Given the description of an element on the screen output the (x, y) to click on. 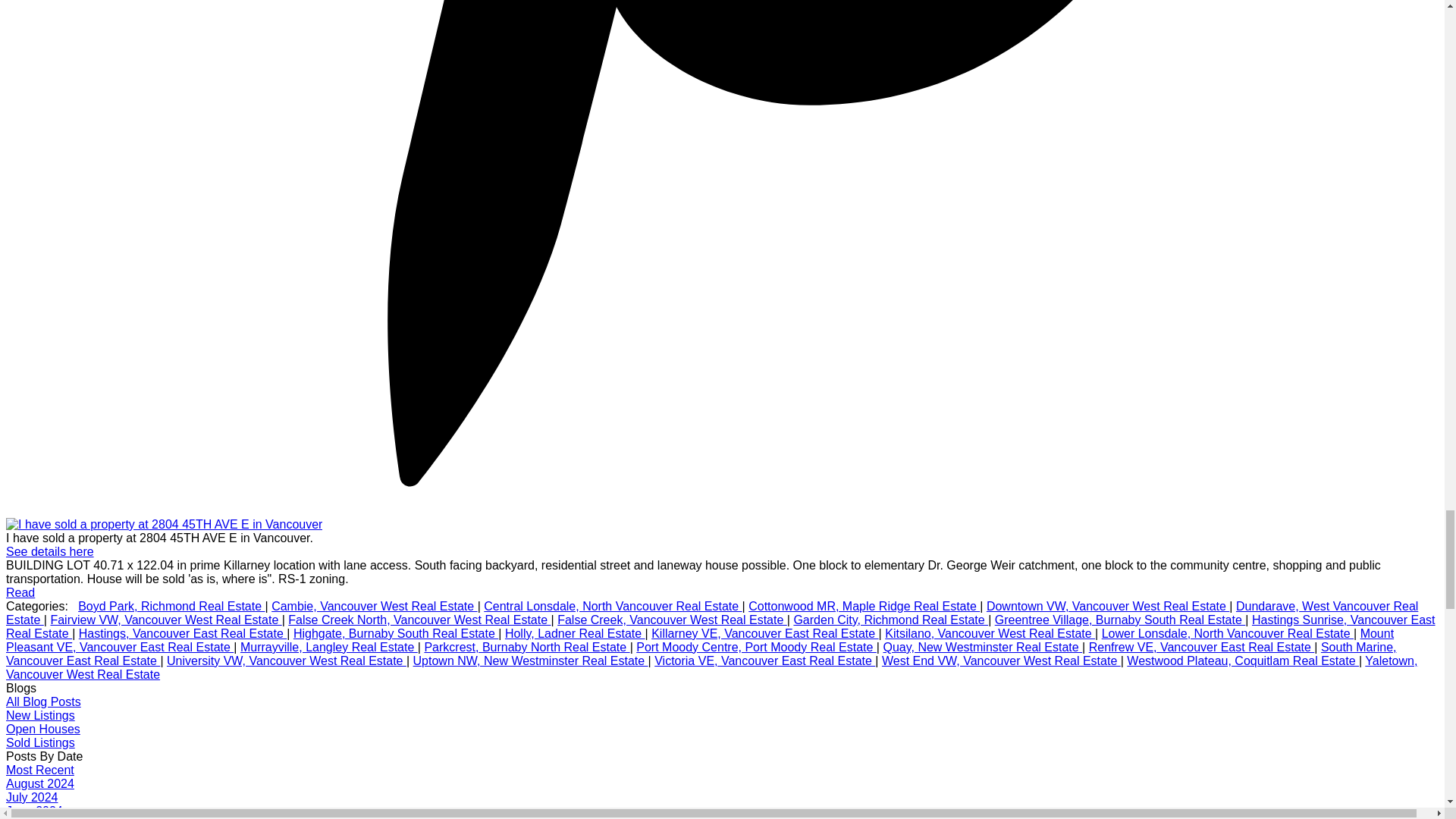
Cottonwood MR, Maple Ridge Real Estate (863, 605)
False Creek North, Vancouver West Real Estate (419, 619)
Downtown VW, Vancouver West Real Estate (1107, 605)
Hastings Sunrise, Vancouver East Real Estate (720, 626)
Greentree Village, Burnaby South Real Estate (1120, 619)
Boyd Park, Richmond Real Estate (171, 605)
See details here (49, 551)
Garden City, Richmond Real Estate (890, 619)
Fairview VW, Vancouver West Real Estate (165, 619)
Dundarave, West Vancouver Real Estate (711, 612)
